Given the description of an element on the screen output the (x, y) to click on. 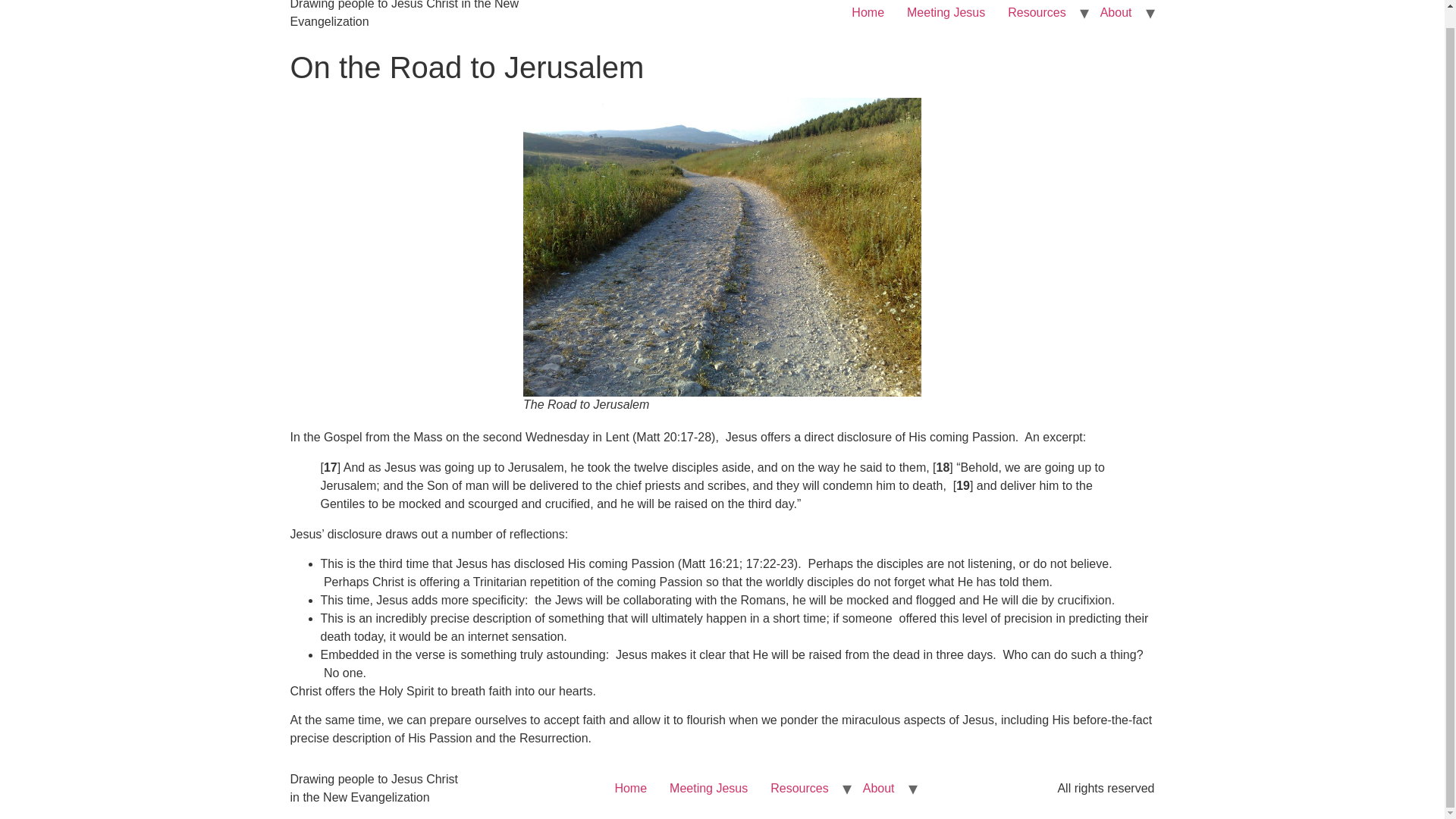
Meeting Jesus (945, 13)
Home (867, 13)
The Road to Jerusalem (721, 246)
Meeting Jesus (708, 788)
Resources (1036, 13)
Resources (799, 788)
Home (630, 788)
About (1115, 13)
About (878, 788)
